Given the description of an element on the screen output the (x, y) to click on. 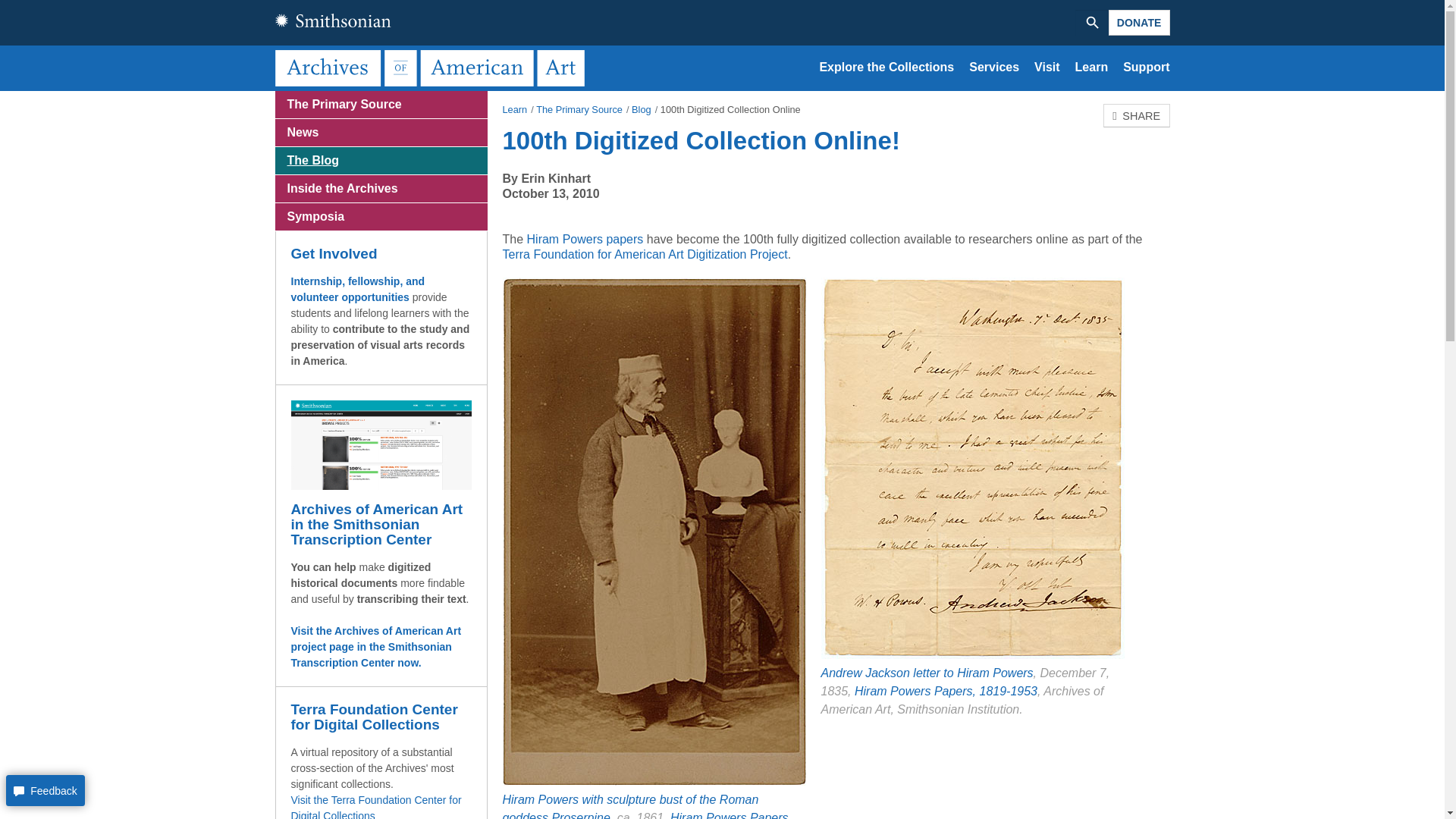
DONATE (1139, 22)
Skip to main content (721, 91)
Archives of American Art, Smithsonian Institution (432, 67)
Explore the Collections (885, 67)
Records and Resources (885, 67)
Services (994, 67)
Home (432, 67)
